Given the description of an element on the screen output the (x, y) to click on. 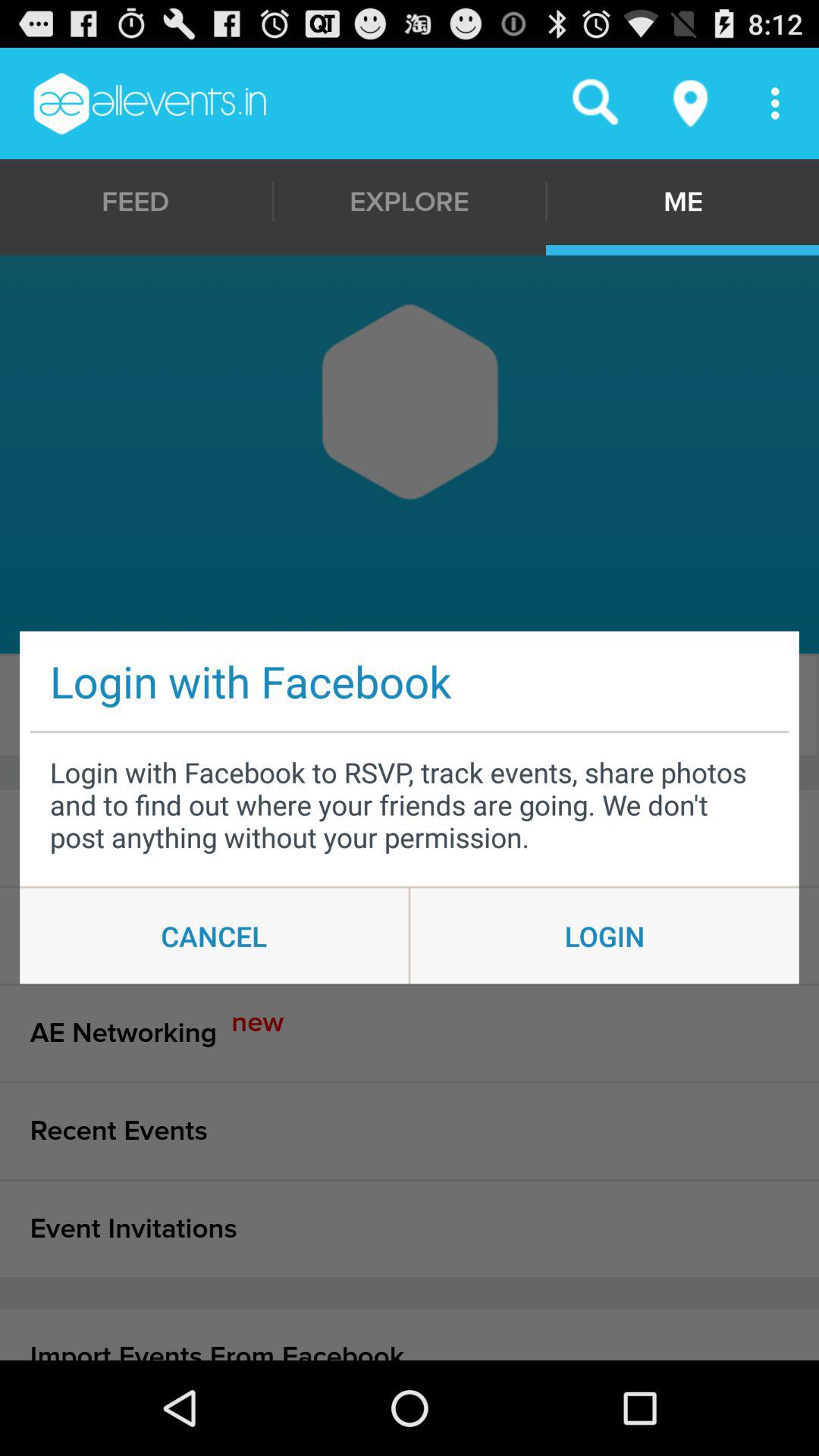
turn off the icon above me item (691, 103)
